Given the description of an element on the screen output the (x, y) to click on. 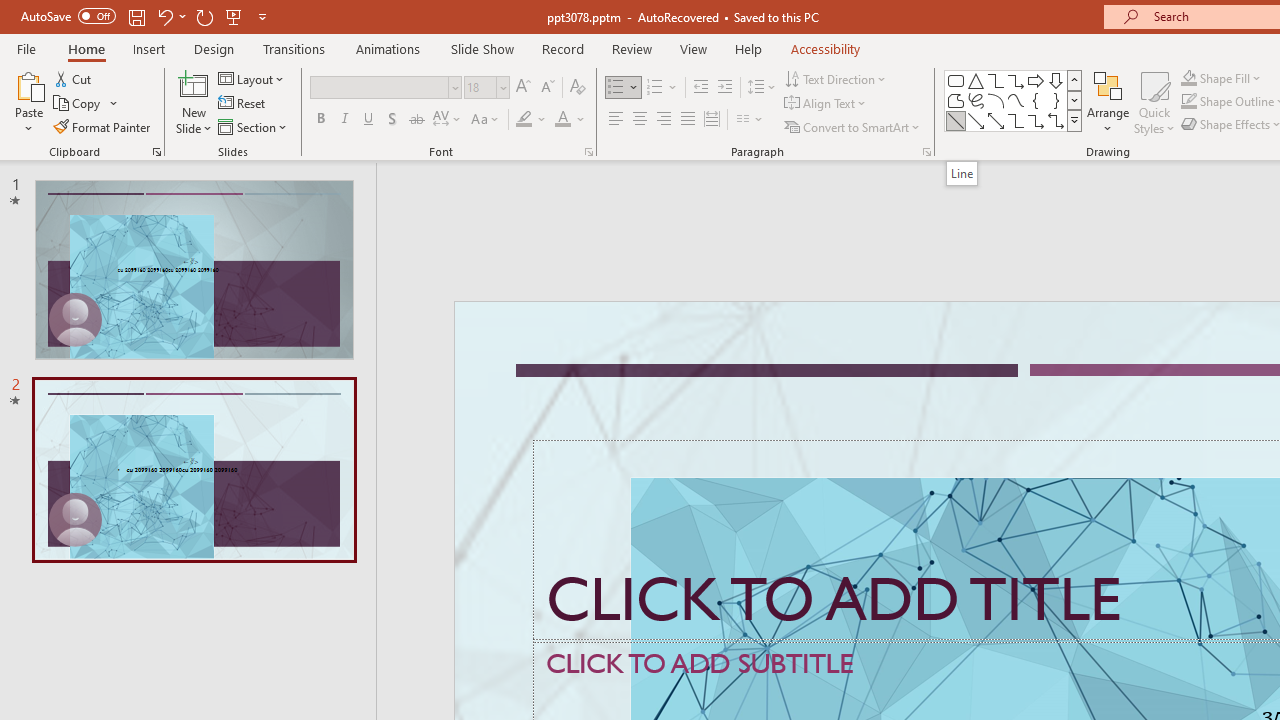
AutoSave (68, 16)
Line (961, 173)
Help (748, 48)
Arc (995, 100)
Undo (164, 15)
Home (86, 48)
Text Highlight Color Yellow (524, 119)
System (10, 11)
Accessibility (825, 48)
Layout (252, 78)
More Options (1232, 78)
View (693, 48)
Record (562, 48)
Decrease Indent (700, 87)
Connector: Elbow (1016, 120)
